Given the description of an element on the screen output the (x, y) to click on. 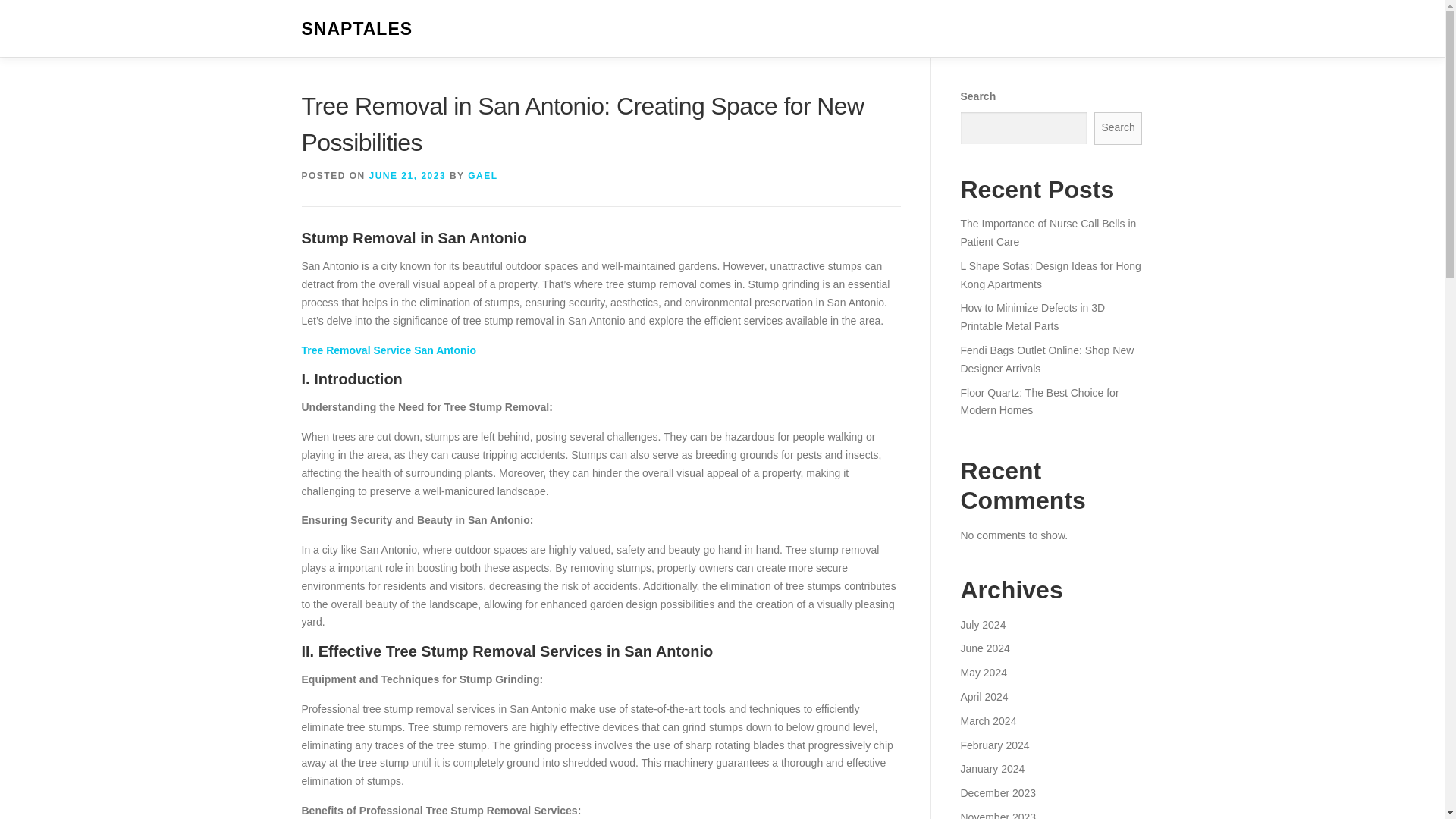
SNAPTALES (357, 29)
May 2024 (982, 672)
GAEL (482, 175)
How to Minimize Defects in 3D Printable Metal Parts (1032, 317)
Search (1118, 128)
February 2024 (994, 744)
The Importance of Nurse Call Bells in Patient Care (1047, 232)
Fendi Bags Outlet Online: Shop New Designer Arrivals (1046, 358)
July 2024 (982, 624)
April 2024 (983, 696)
L Shape Sofas: Design Ideas for Hong Kong Apartments (1049, 275)
January 2024 (992, 768)
December 2023 (997, 793)
November 2023 (997, 815)
June 2024 (984, 648)
